Given the description of an element on the screen output the (x, y) to click on. 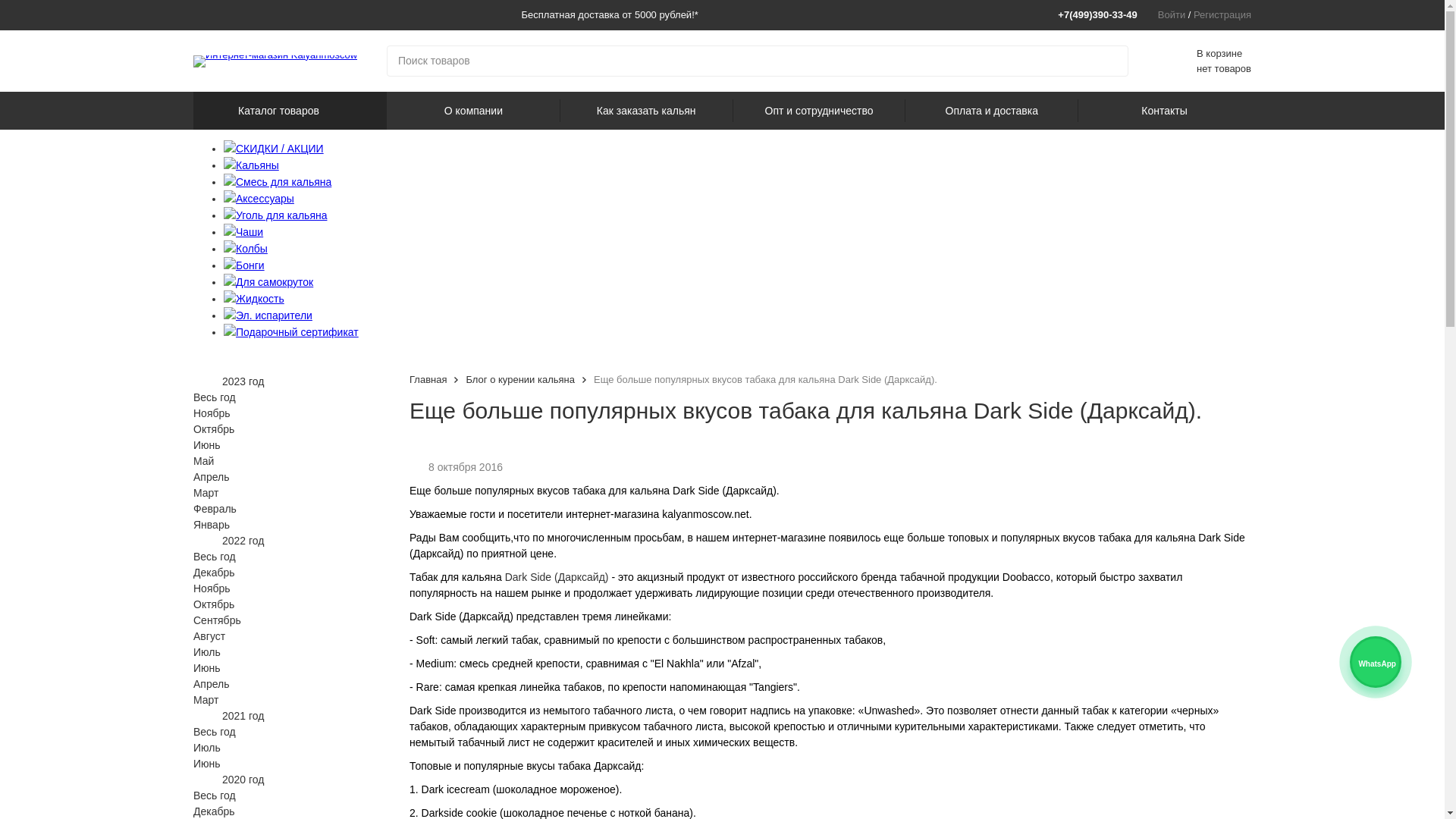
RSS Element type: text (427, 430)
+7(499)390-33-49 Element type: text (1102, 15)
